Given the description of an element on the screen output the (x, y) to click on. 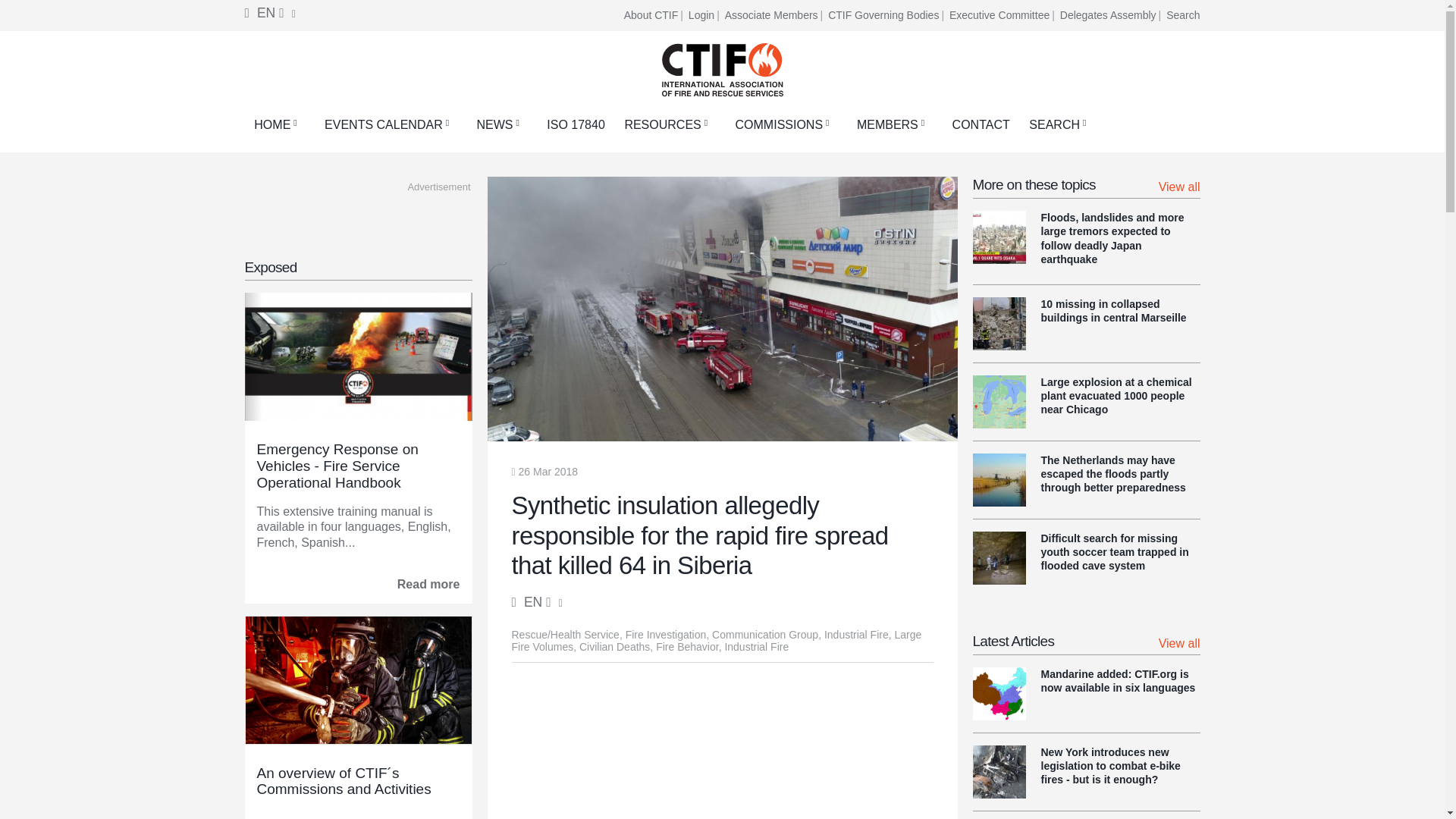
CTIF Governing Bodies (887, 15)
Login (705, 15)
Search (1182, 15)
Executive Committee (1003, 15)
Associate Members (775, 15)
Delegates Assembly (1111, 15)
About CTIF (654, 15)
ISO 17840 (575, 124)
